Given the description of an element on the screen output the (x, y) to click on. 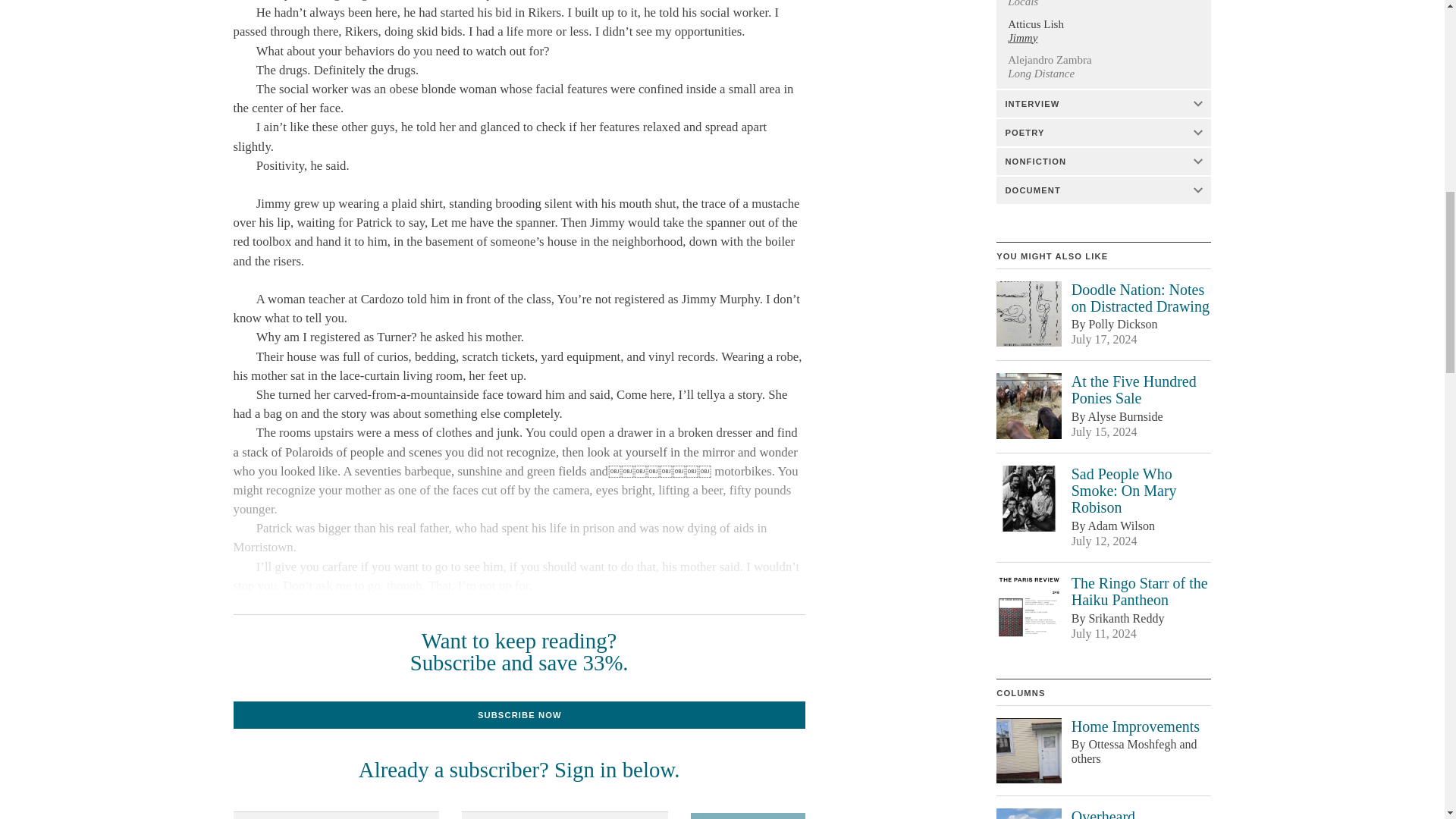
Sign In (747, 816)
